Given the description of an element on the screen output the (x, y) to click on. 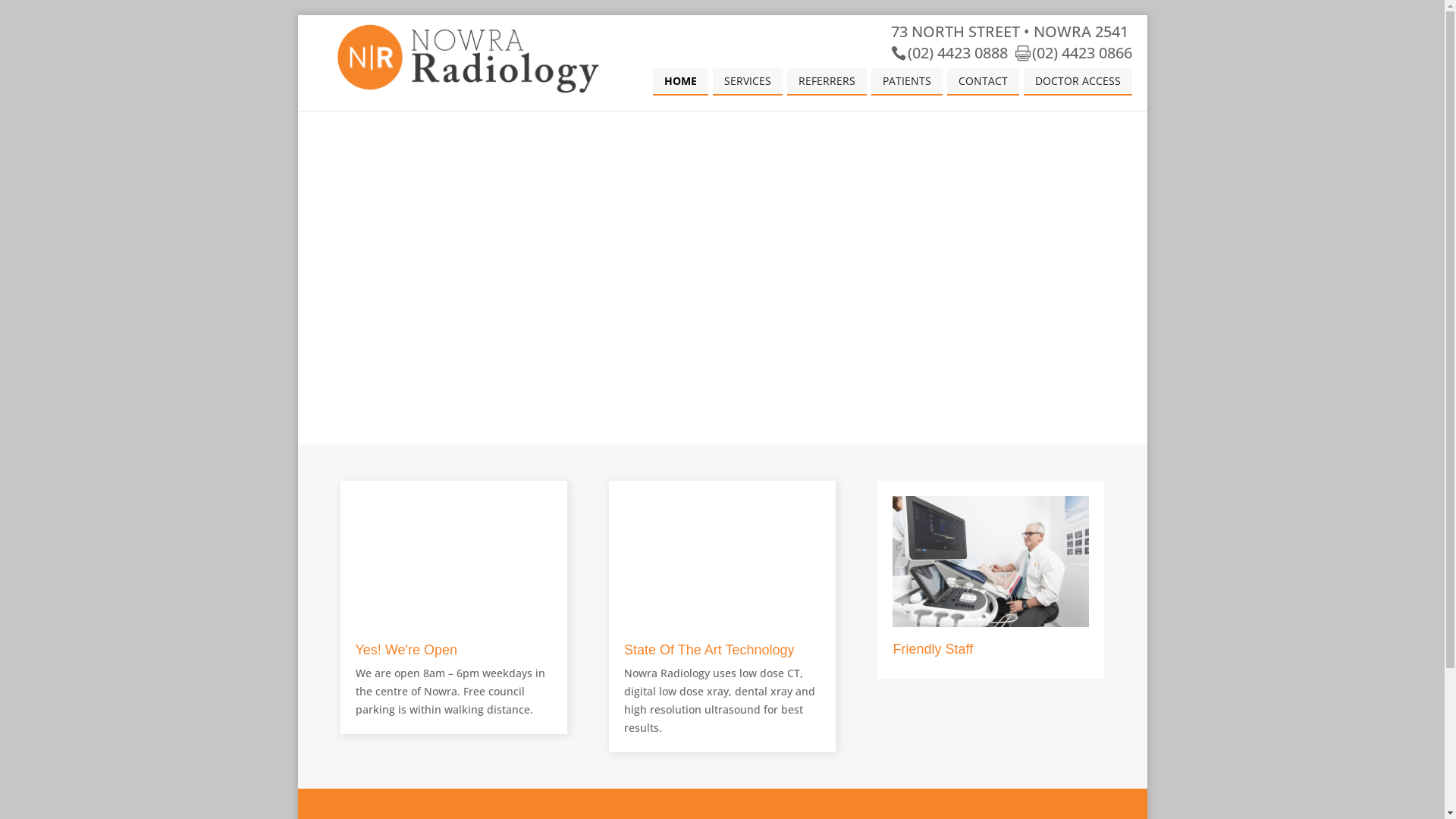
(02) 4423 0866 Element type: text (1072, 52)
REFERRERS Element type: text (826, 81)
CONTACT Element type: text (982, 81)
36 Element type: hover (990, 622)
HOME Element type: text (679, 81)
DOCTOR ACCESS Element type: text (1077, 81)
(02) 4423 0888 Element type: text (948, 52)
PATIENTS Element type: text (905, 81)
SERVICES Element type: text (747, 81)
